Given the description of an element on the screen output the (x, y) to click on. 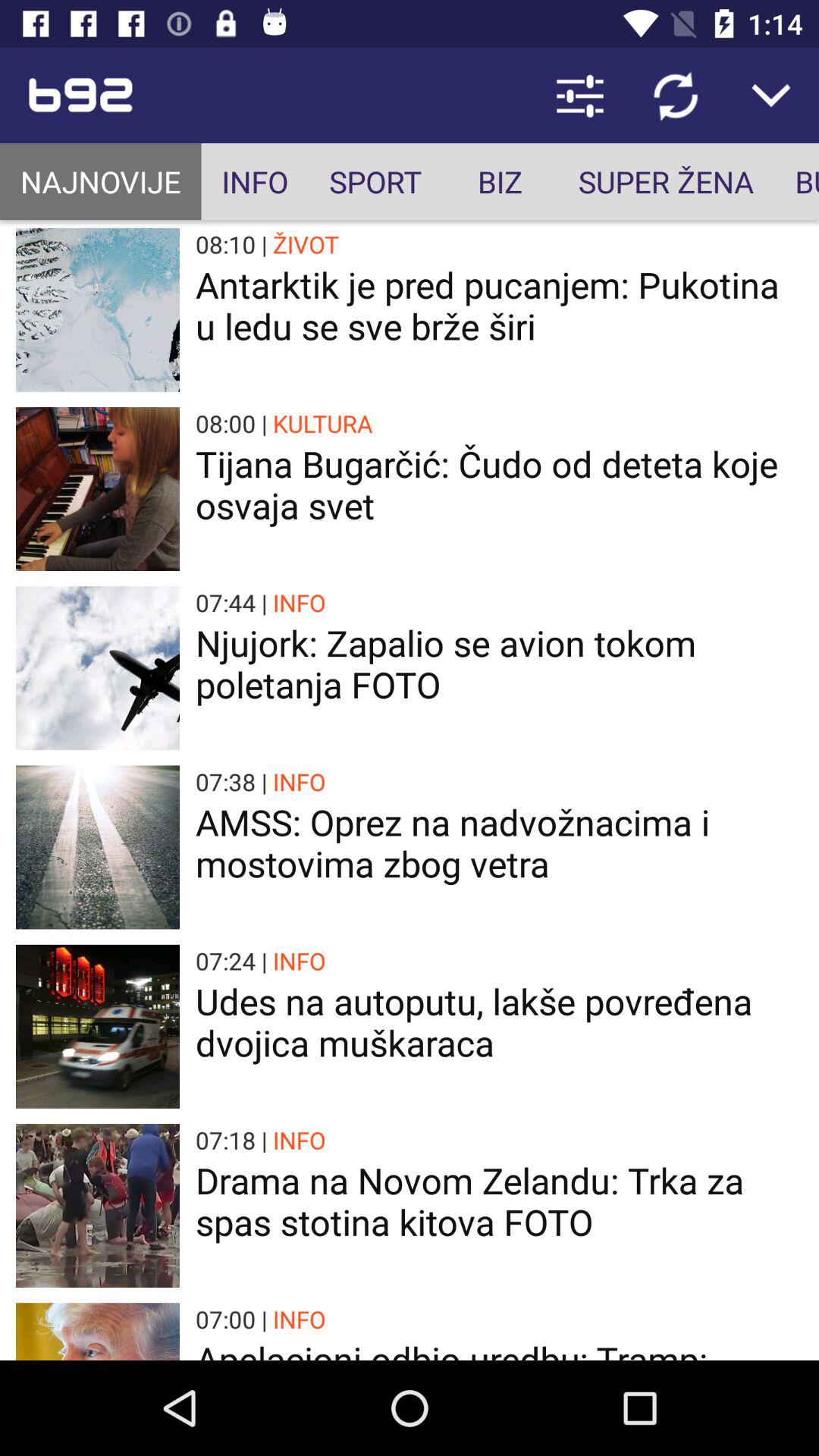
tap icon below the antarktik je pred (322, 423)
